Given the description of an element on the screen output the (x, y) to click on. 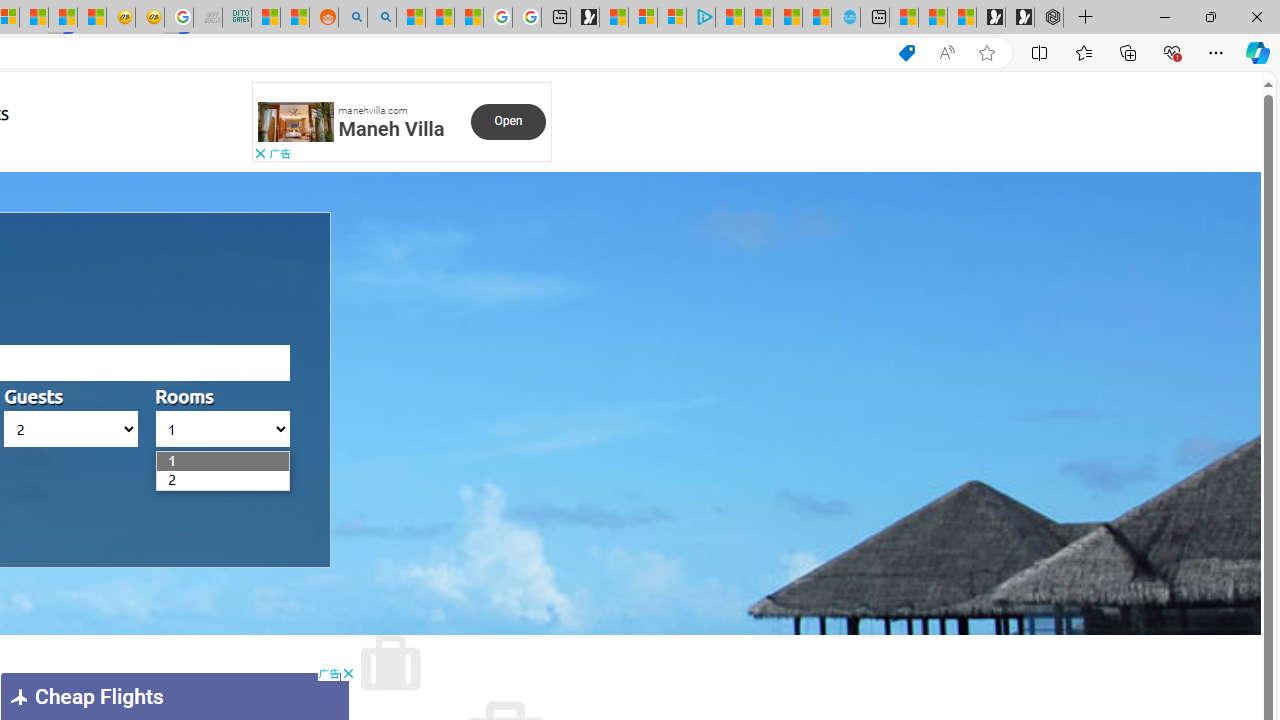
Utah sues federal government - Search (381, 17)
Class: ns-pn6gp-e-16 svg-anchor (296, 121)
2 (167, 480)
manehvilla.com (372, 109)
AutomationID: hotels_passengers (71, 429)
